Given the description of an element on the screen output the (x, y) to click on. 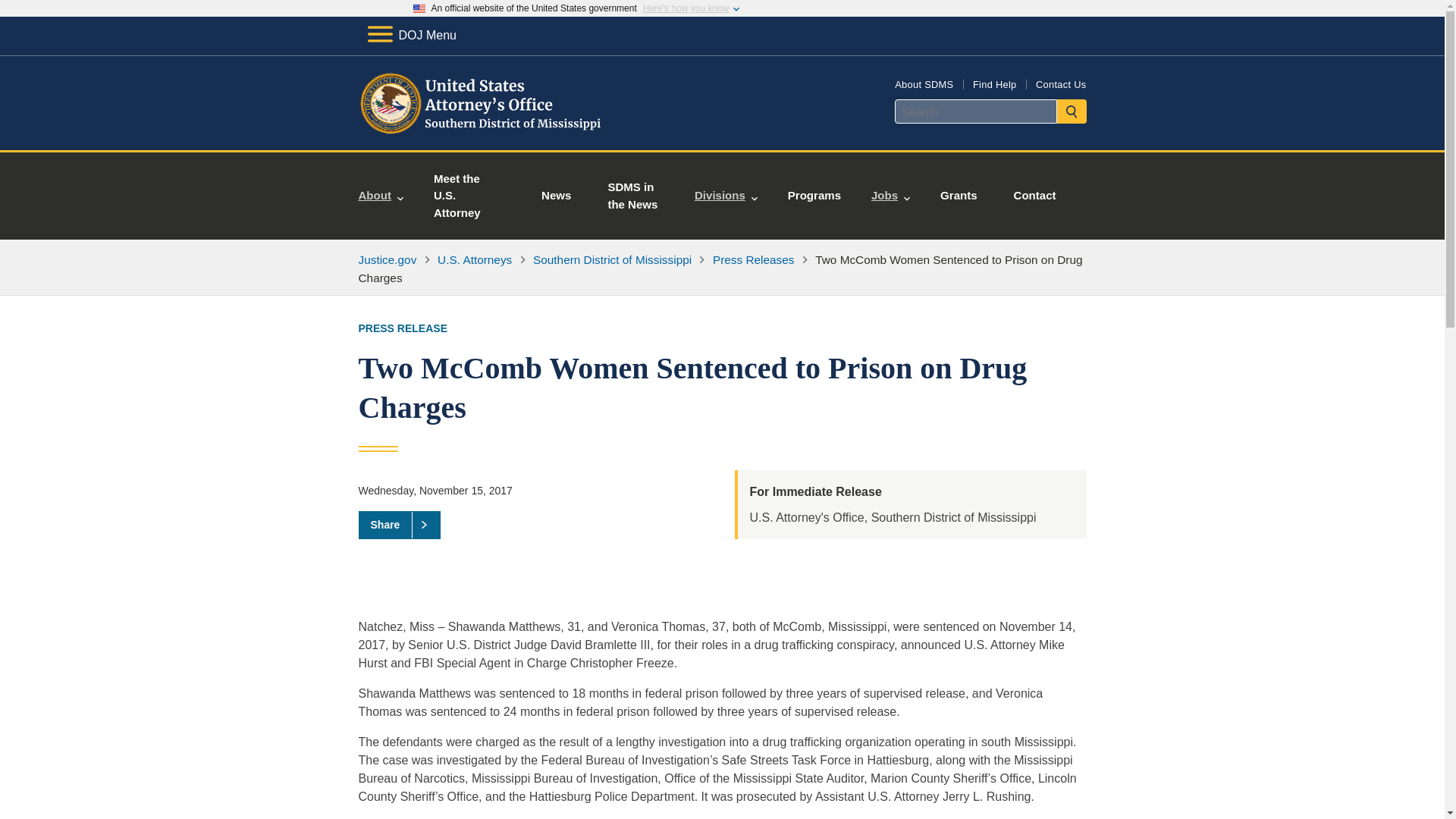
About SDMS (924, 84)
SDMS in the News (635, 196)
Meet the U.S. Attorney (468, 196)
Programs (814, 196)
Here's how you know (686, 8)
Contact Us (1060, 84)
Southern District of Mississippi (611, 259)
Home (481, 132)
Press Releases (753, 259)
Justice.gov (387, 259)
Divisions (726, 196)
Find Help (994, 84)
Share (398, 524)
U.S. Attorneys (475, 259)
DOJ Menu (411, 35)
